Given the description of an element on the screen output the (x, y) to click on. 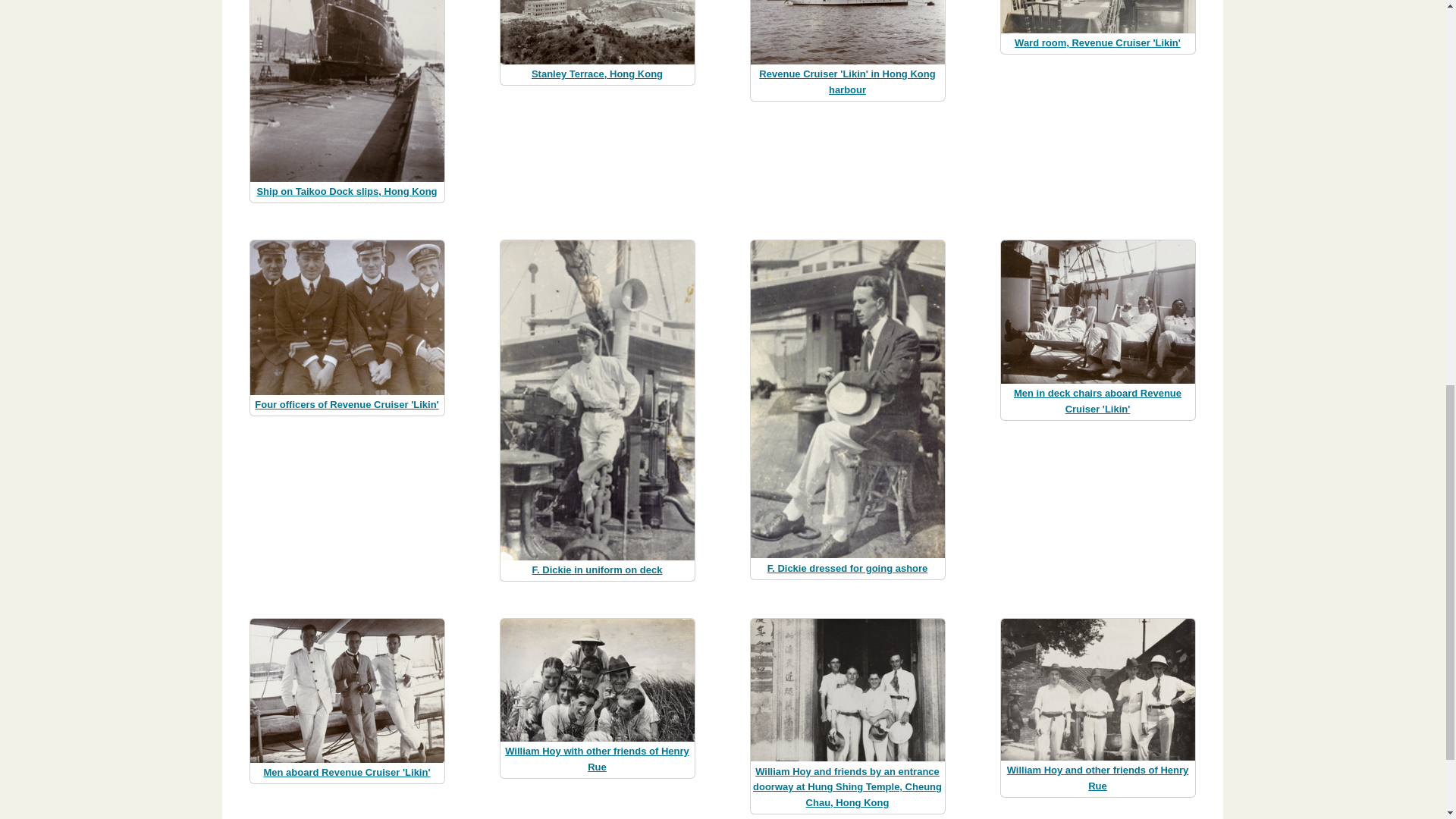
Revenue Cruiser 'Likin' in Hong Kong harbour (846, 81)
F. Dickie in uniform on deck (597, 569)
F. Dickie dressed for going ashore (847, 568)
Men aboard Revenue Cruiser 'Likin' (346, 772)
William Hoy with other friends of Henry Rue (596, 759)
William Hoy and other friends of Henry Rue (1098, 777)
Four officers of Revenue Cruiser 'Likin' (346, 404)
Men in deck chairs aboard Revenue Cruiser 'Likin' (1096, 400)
Stanley Terrace, Hong Kong (596, 73)
Ward room, Revenue Cruiser 'Likin' (1097, 42)
Ship on Taikoo Dock slips, Hong Kong (346, 191)
